Given the description of an element on the screen output the (x, y) to click on. 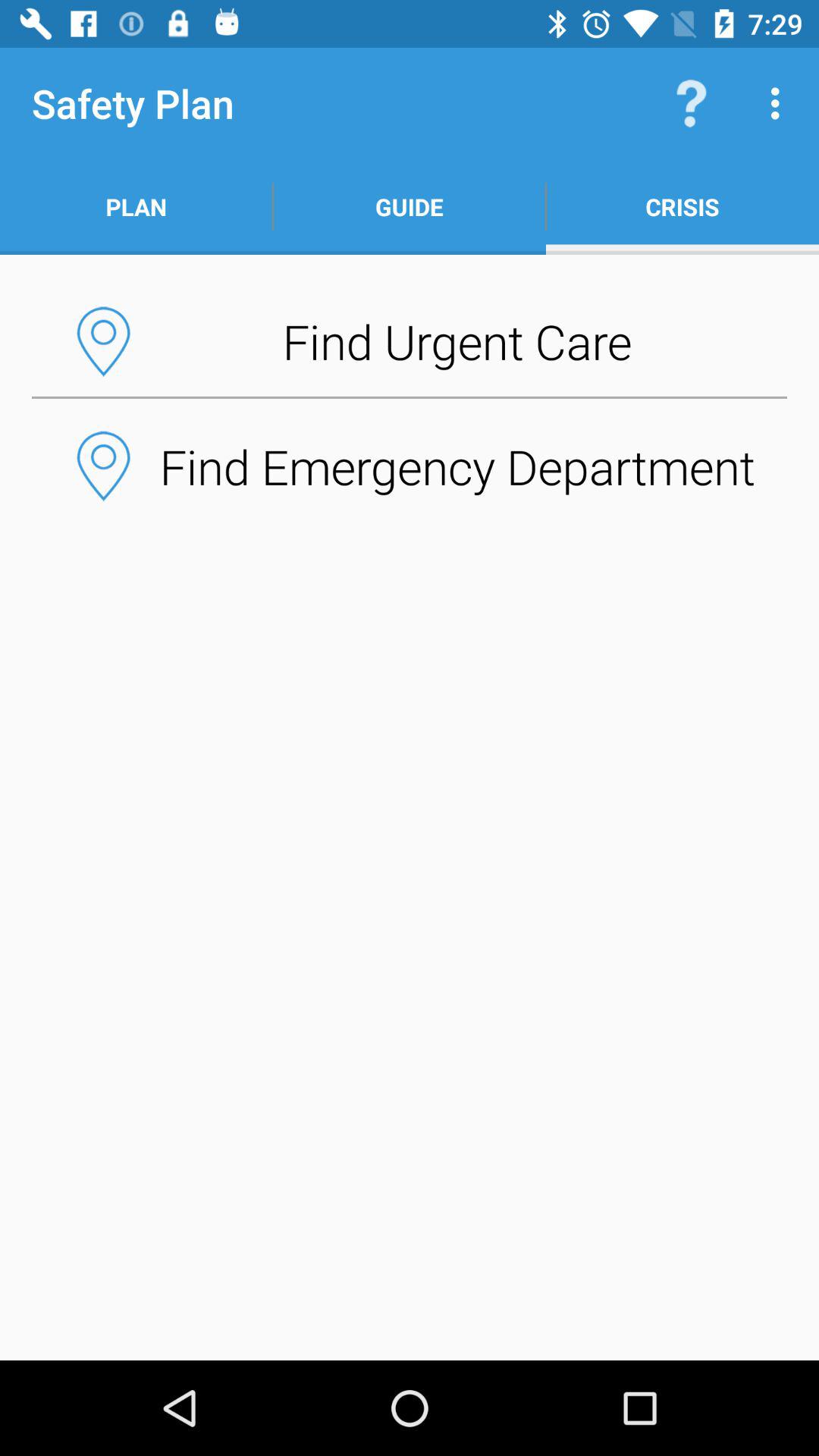
click the item to the right of guide app (691, 103)
